Given the description of an element on the screen output the (x, y) to click on. 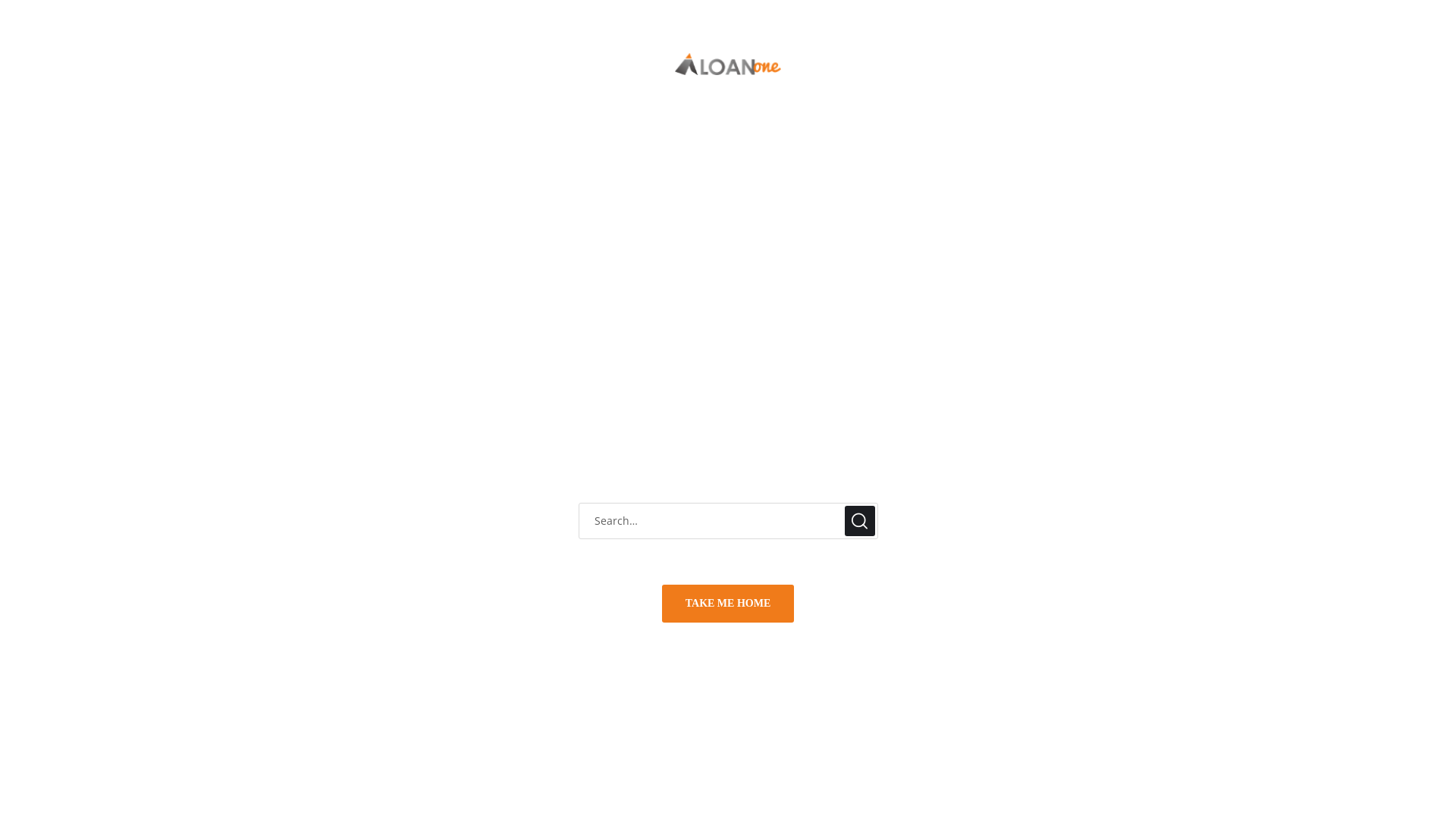
TAKE ME HOME Element type: text (728, 603)
